Given the description of an element on the screen output the (x, y) to click on. 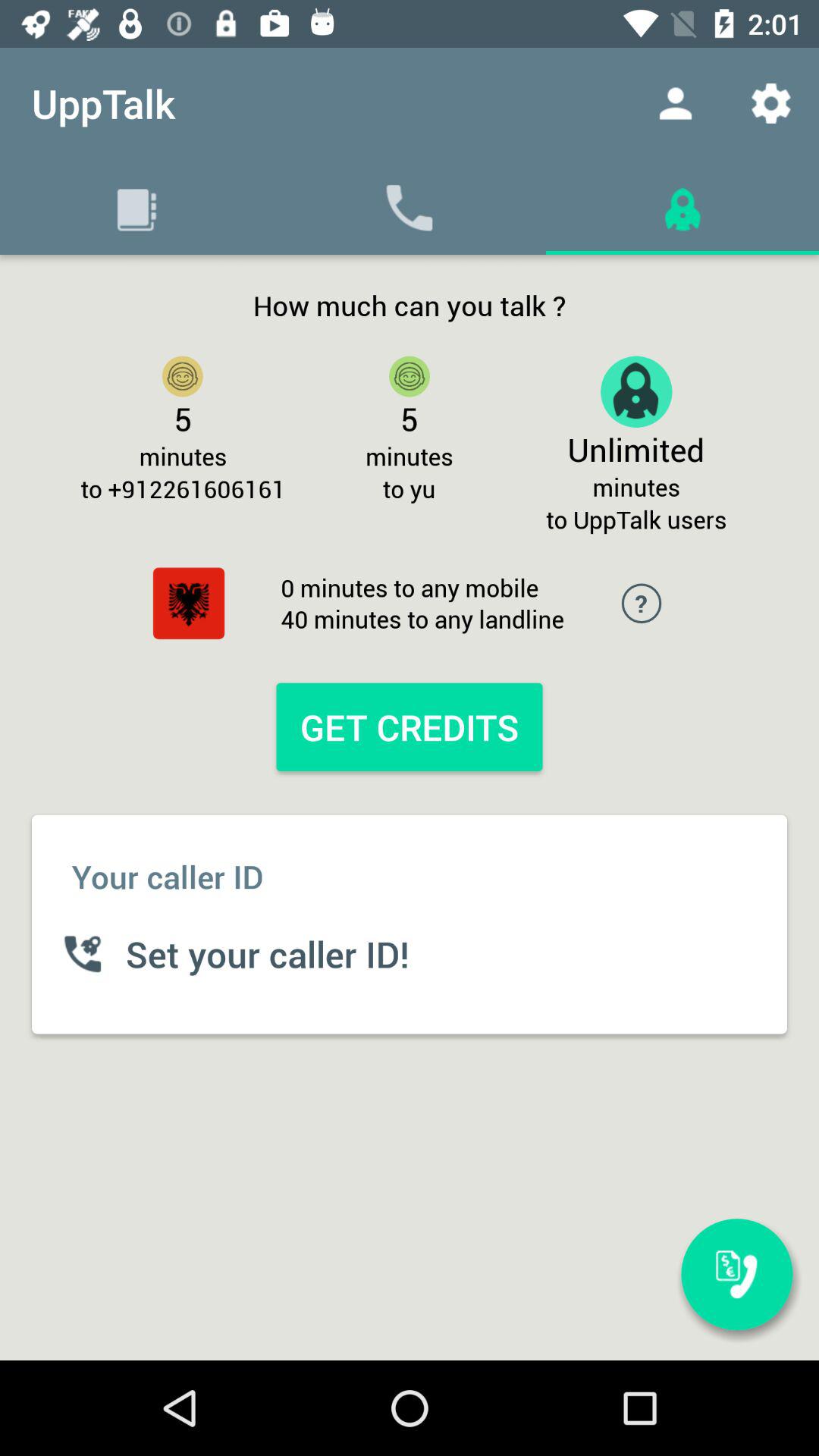
select the get credits (409, 727)
